Given the description of an element on the screen output the (x, y) to click on. 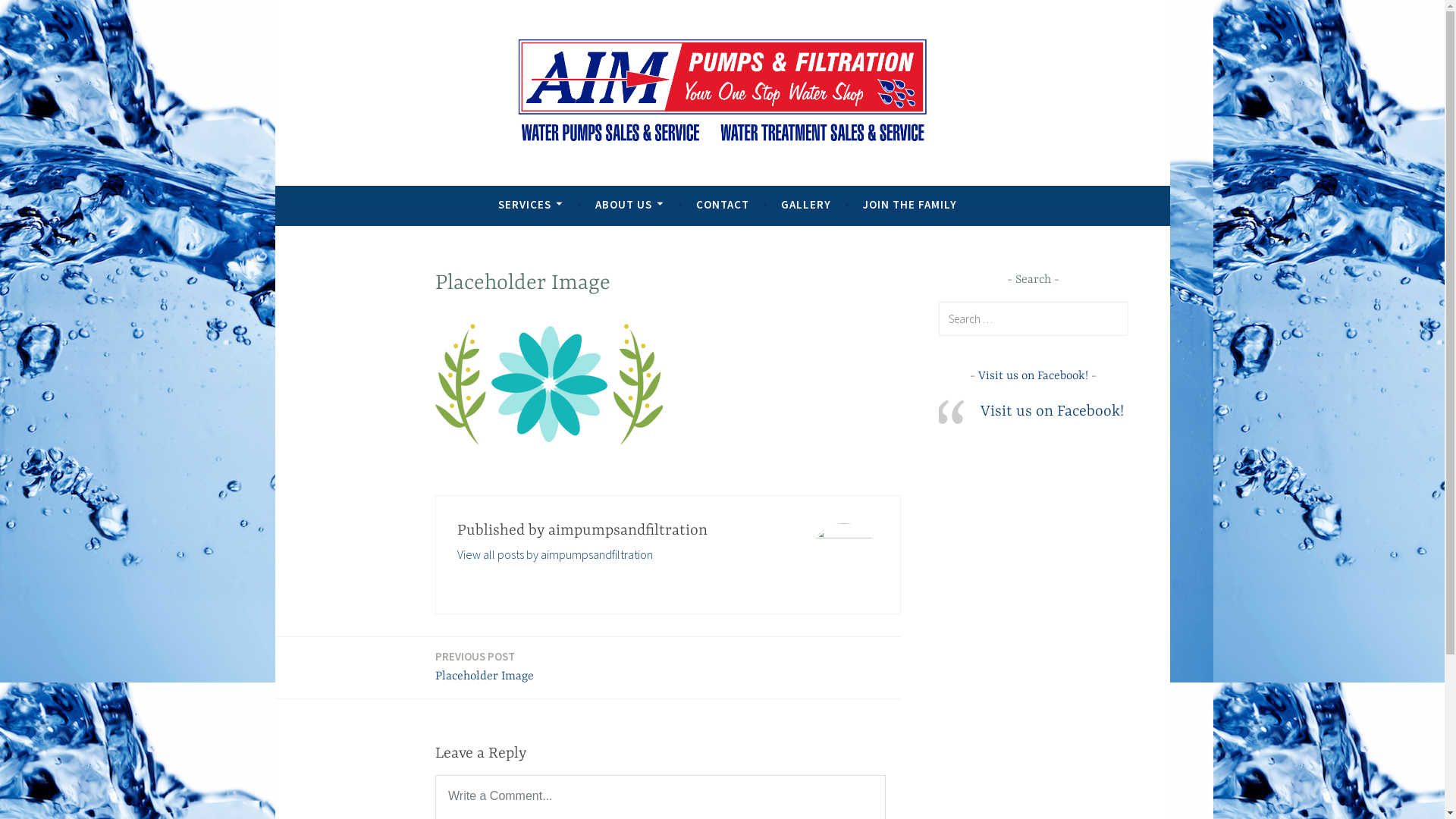
JOIN THE FAMILY Element type: text (909, 204)
Visit us on Facebook! Element type: text (1033, 375)
View all posts by aimpumpsandfiltration Element type: text (554, 553)
SERVICES Element type: text (530, 204)
Aim Pumps & Filtration Element type: text (480, 179)
ABOUT US Element type: text (629, 204)
Visit us on Facebook! Element type: text (1051, 411)
Search Element type: text (33, 15)
CONTACT Element type: text (722, 204)
GALLERY Element type: text (806, 204)
PREVIOUS POST
Placeholder Image Element type: text (484, 667)
